Given the description of an element on the screen output the (x, y) to click on. 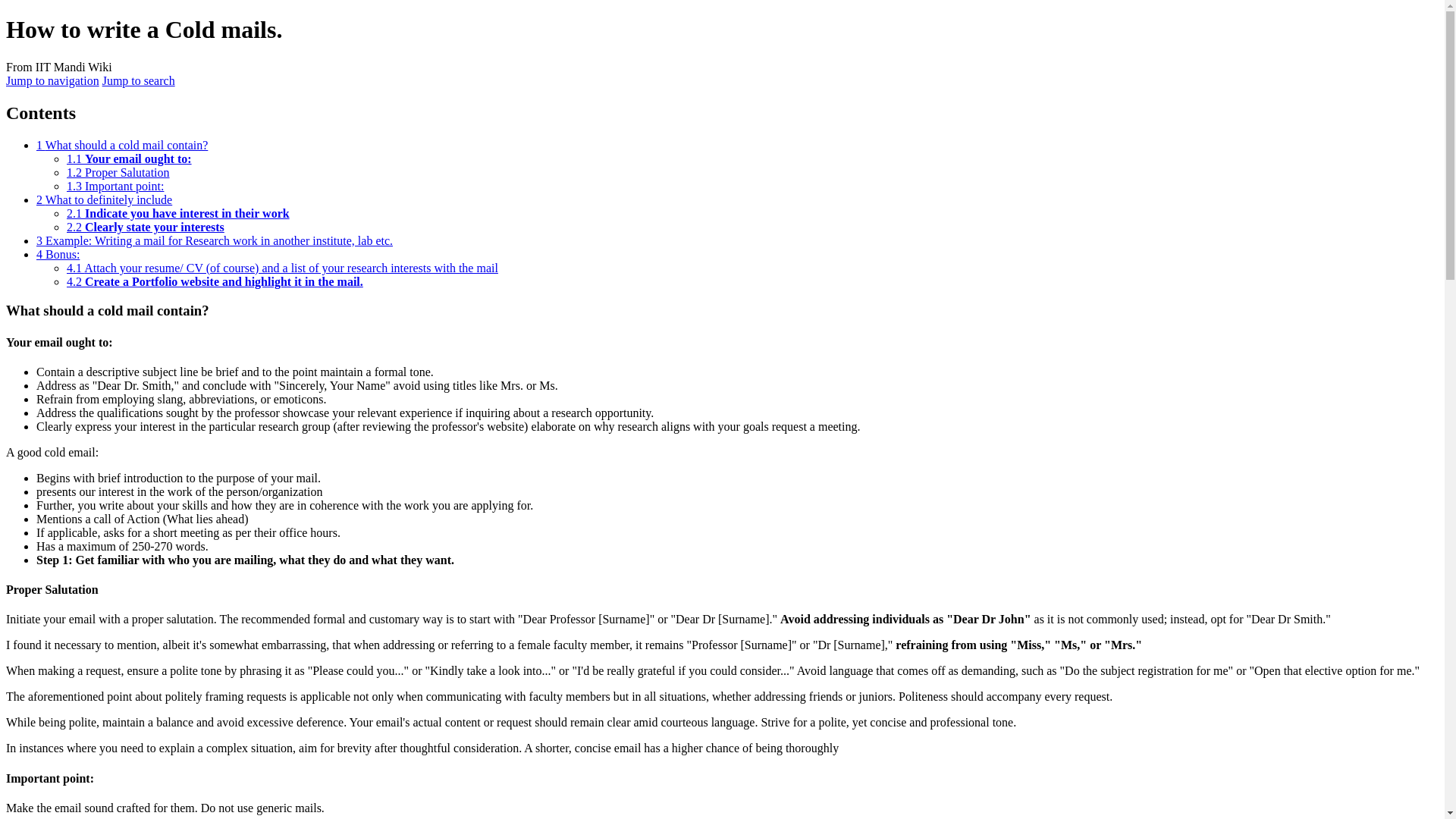
4 Bonus: (58, 254)
1.2 Proper Salutation (118, 172)
2 What to definitely include (103, 199)
2.1 Indicate you have interest in their work (177, 213)
4.2 Create a Portfolio website and highlight it in the mail. (214, 281)
2.2 Clearly state your interests (145, 226)
Jump to navigation (52, 80)
1.1 Your email ought to: (129, 158)
Jump to search (137, 80)
1 What should a cold mail contain? (122, 144)
1.3 Important point: (114, 185)
